Given the description of an element on the screen output the (x, y) to click on. 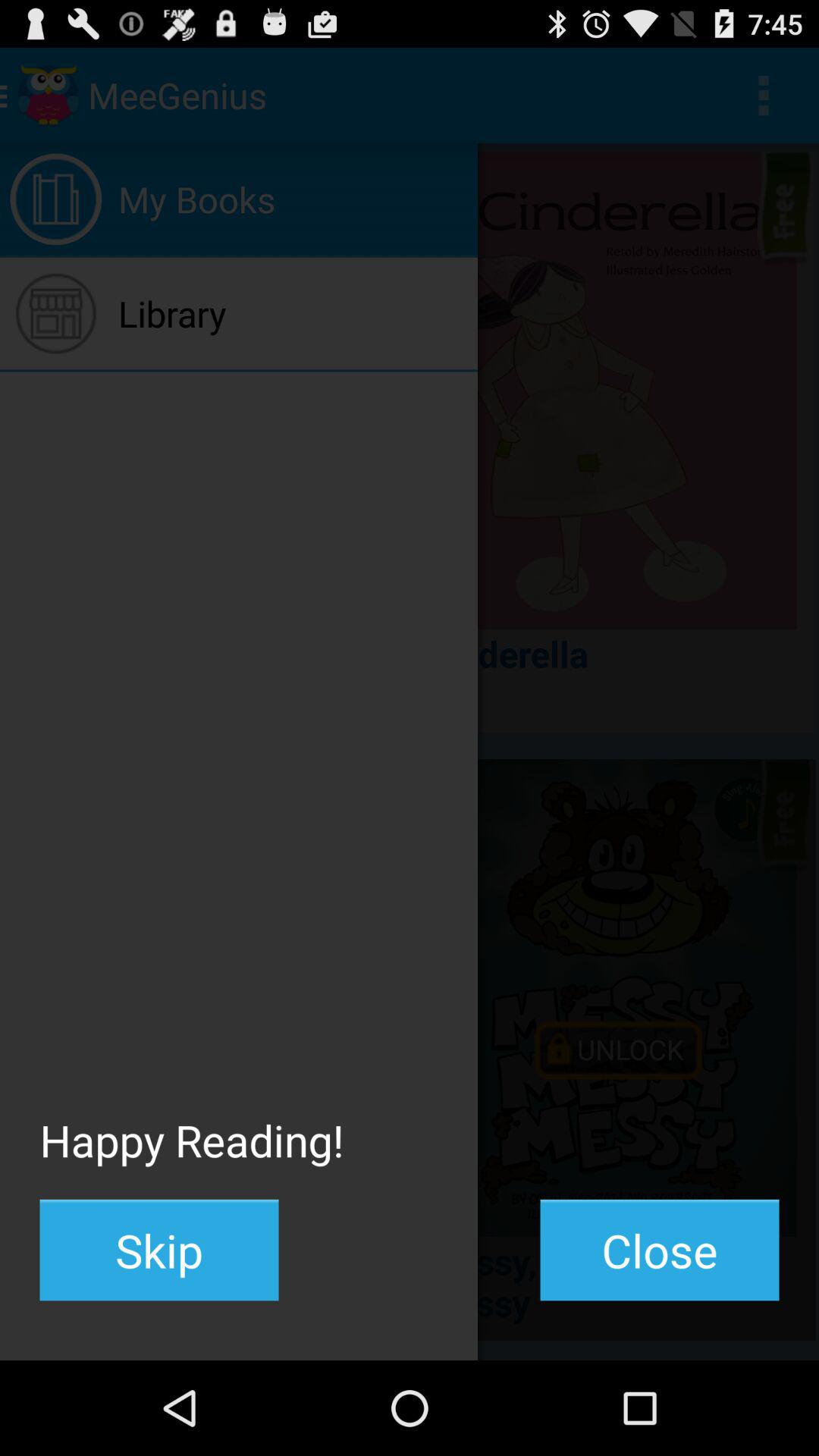
click the item next to the skip button (659, 1249)
